Given the description of an element on the screen output the (x, y) to click on. 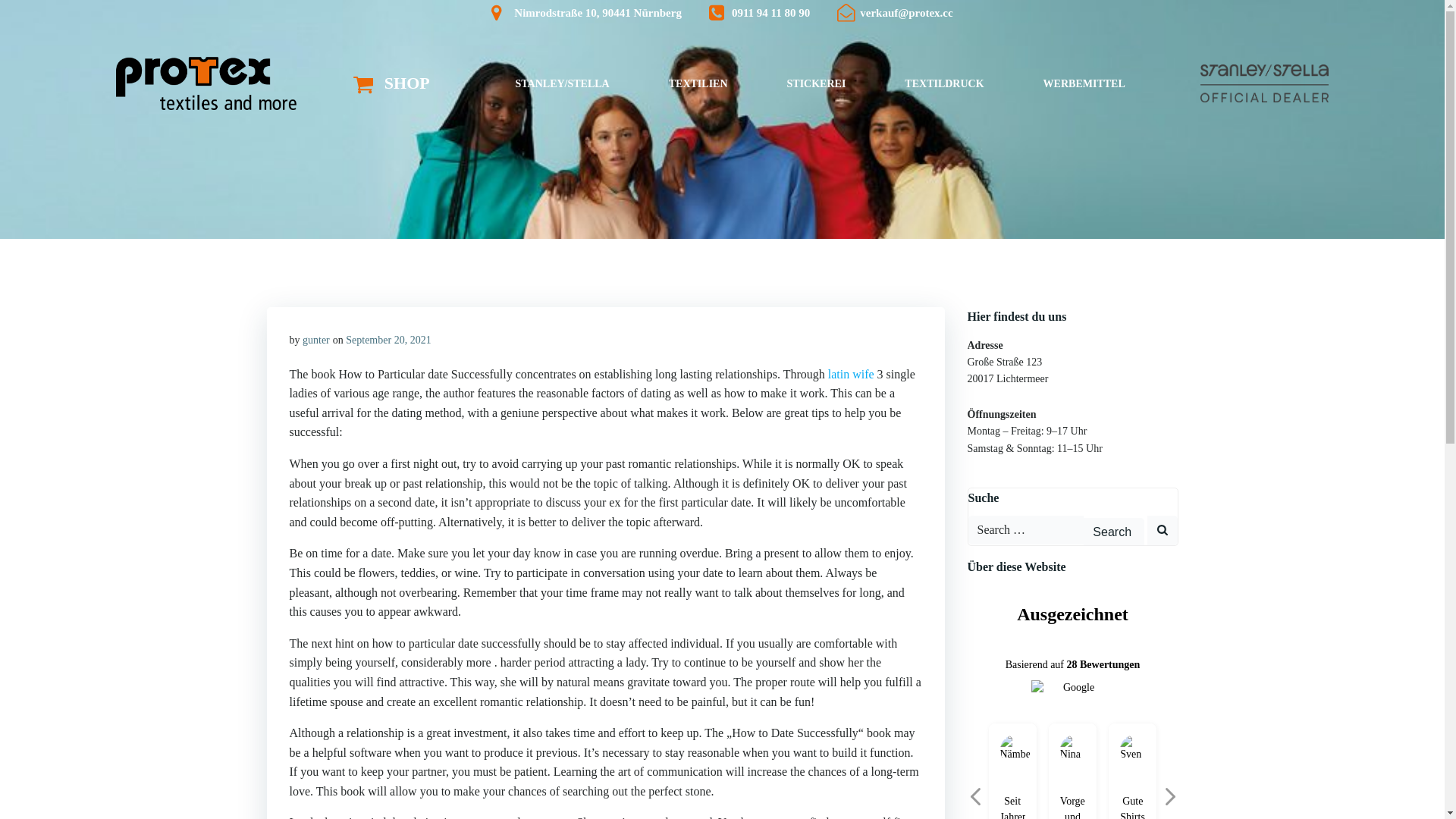
TEXTILIEN Element type: text (698, 83)
WERBEMITTEL Element type: text (1084, 83)
SHOP Element type: text (390, 83)
STICKEREI Element type: text (816, 83)
September 20, 2021 Element type: text (387, 339)
TEXTILDRUCK Element type: text (943, 83)
STANLEY/STELLA Element type: text (561, 83)
verkauf@protex.cc Element type: text (894, 12)
latin wife Element type: text (851, 373)
Search  Element type: text (1113, 532)
Colibri Element type: text (995, 771)
gunter Element type: text (315, 339)
